Given the description of an element on the screen output the (x, y) to click on. 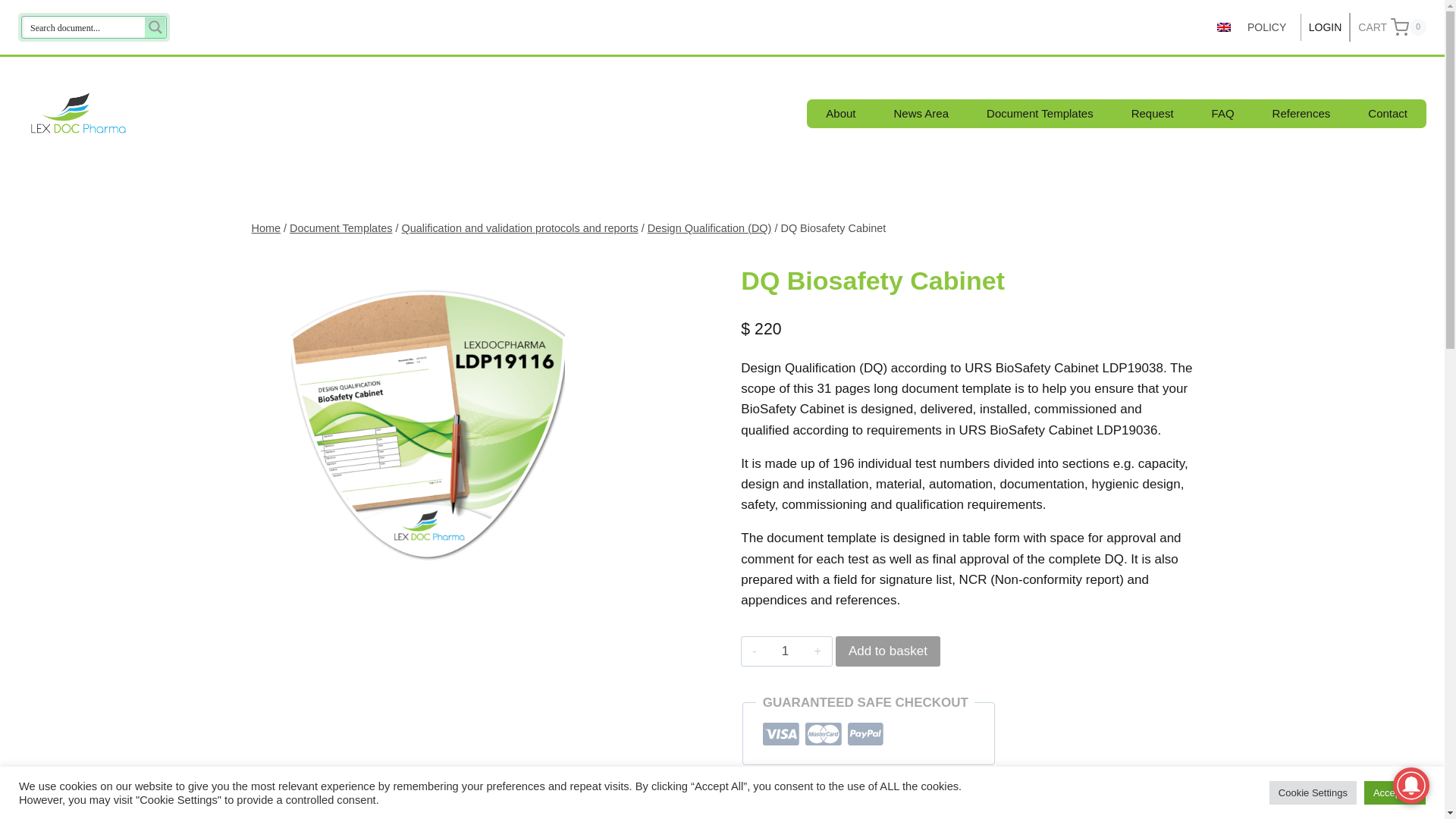
Add to basket (1392, 27)
References (887, 651)
Document Templates (1301, 113)
1 (340, 227)
Contact (784, 651)
POLICY (1387, 113)
News Area (1266, 27)
English (921, 113)
LOGIN (1223, 26)
FAQ (1325, 27)
Home (1222, 113)
Qualification and validation protocols and reports (266, 227)
Qualification and validation protocols and reports (519, 227)
Document Templates (1014, 811)
